Given the description of an element on the screen output the (x, y) to click on. 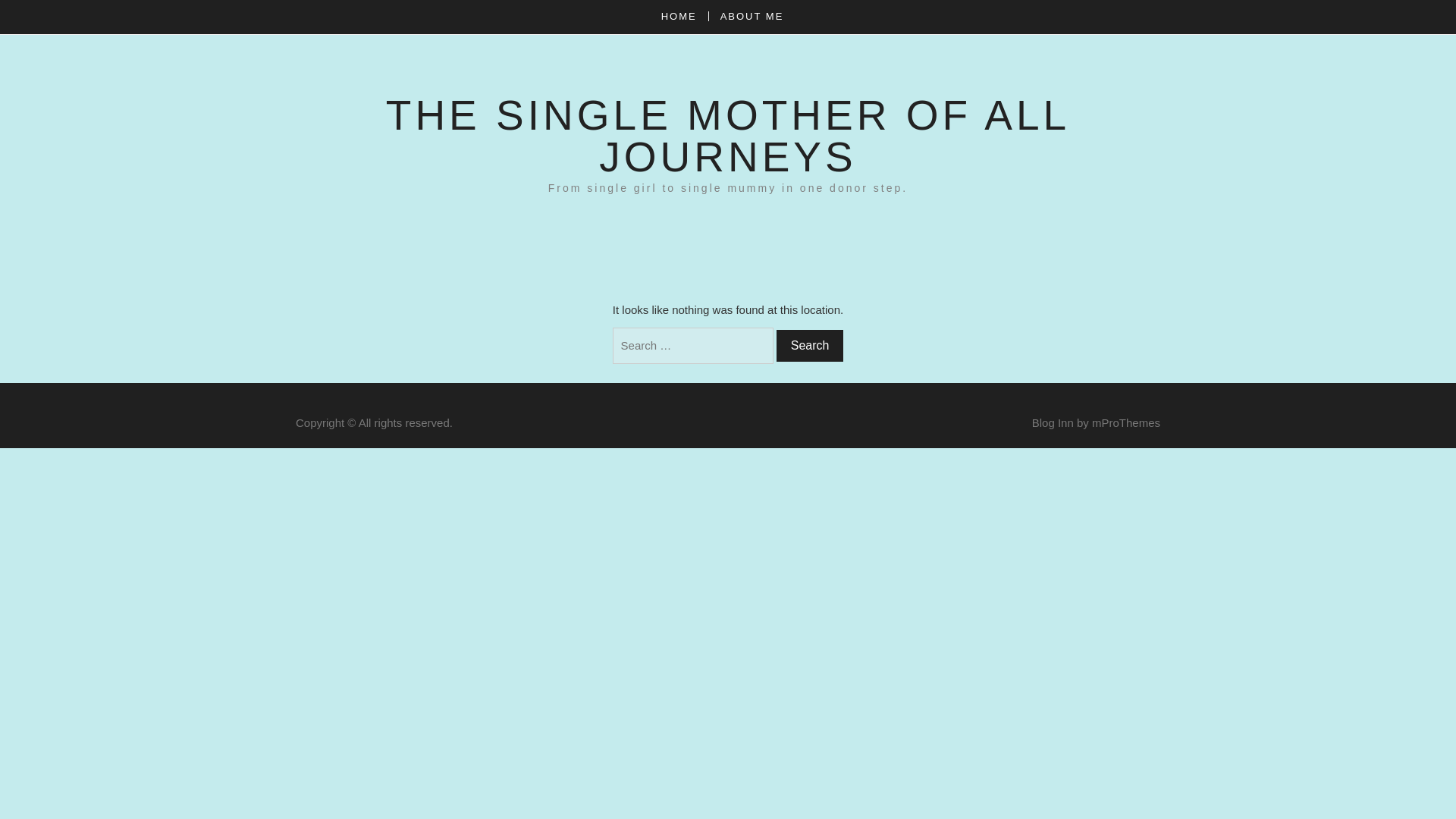
THE SINGLE MOTHER OF ALL JOURNEYS (727, 135)
ABOUT ME (750, 16)
Search (810, 345)
mProThemes (1126, 422)
Search (810, 345)
Search (810, 345)
HOME (684, 16)
